Given the description of an element on the screen output the (x, y) to click on. 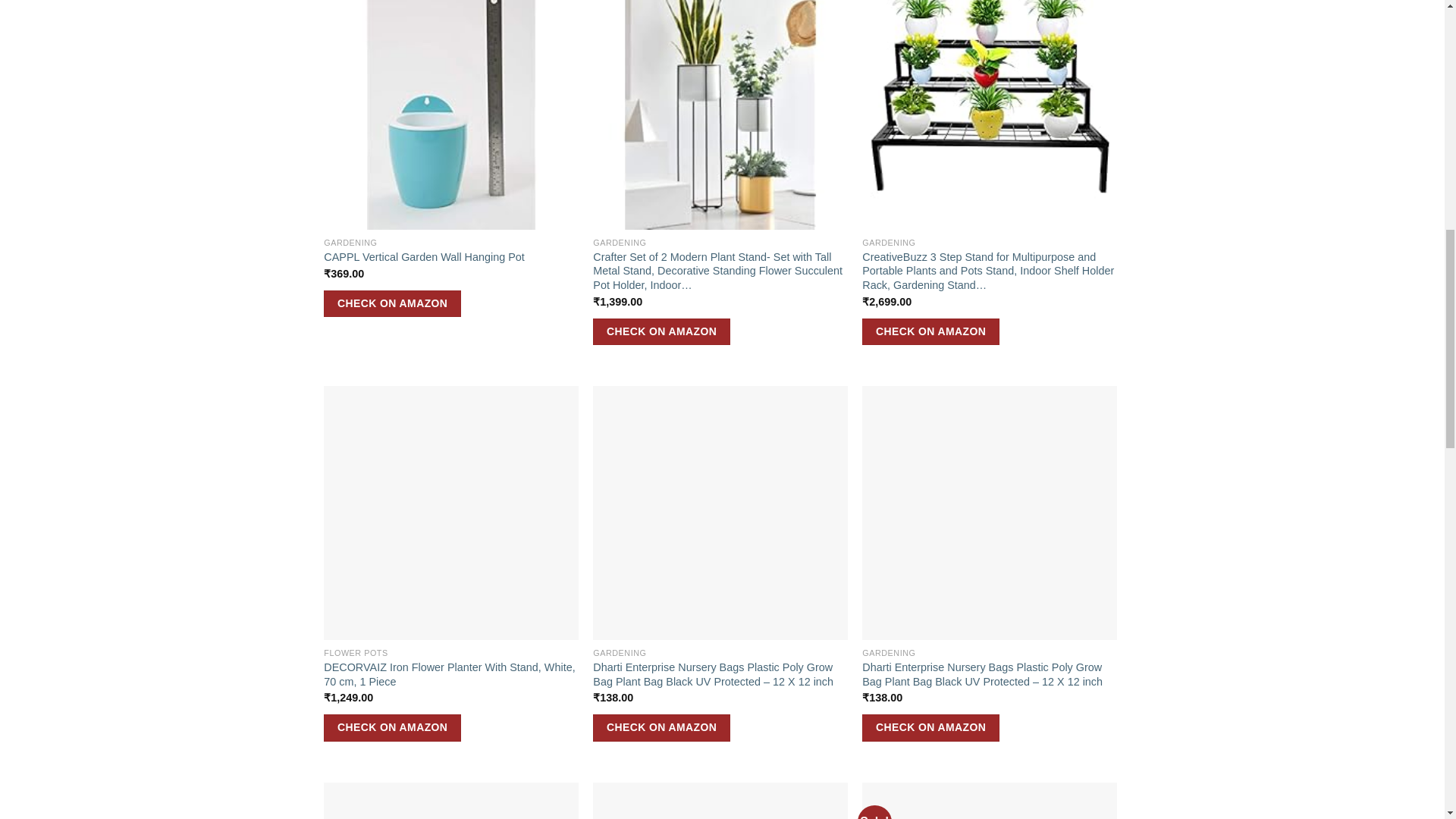
CAPPL Vertical Garden Wall Hanging Pot (423, 257)
CHECK ON AMAZON (661, 331)
CAPPL Vertical Garden Wall Hanging Pot 4 (450, 114)
CHECK ON AMAZON (392, 303)
